Given the description of an element on the screen output the (x, y) to click on. 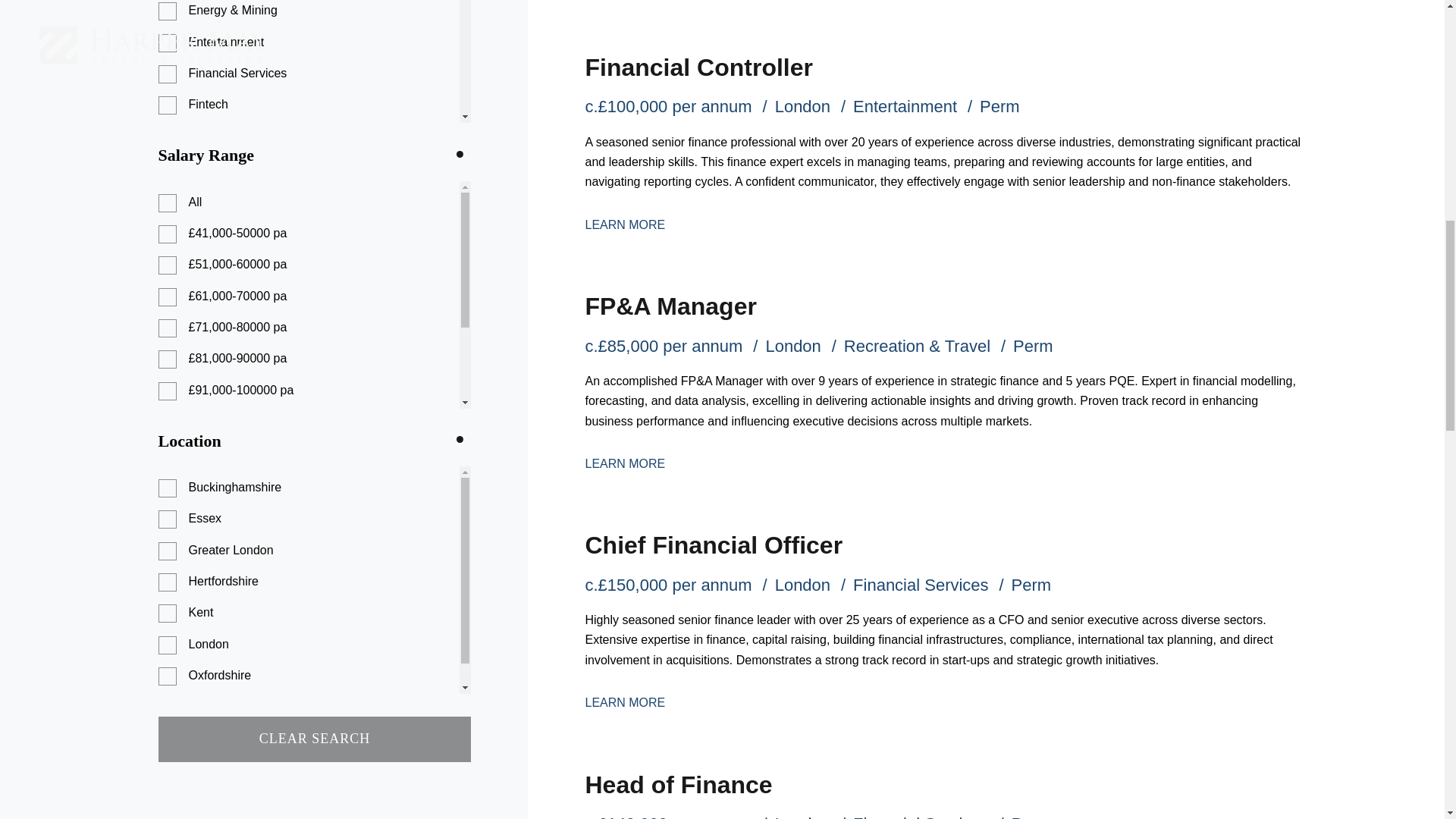
Financial Controller (698, 67)
CLEAR SEARCH (313, 739)
LEARN MORE (625, 702)
Chief Financial Officer (714, 544)
Head of Finance (678, 784)
LEARN MORE (625, 463)
LEARN MORE (625, 224)
